Given the description of an element on the screen output the (x, y) to click on. 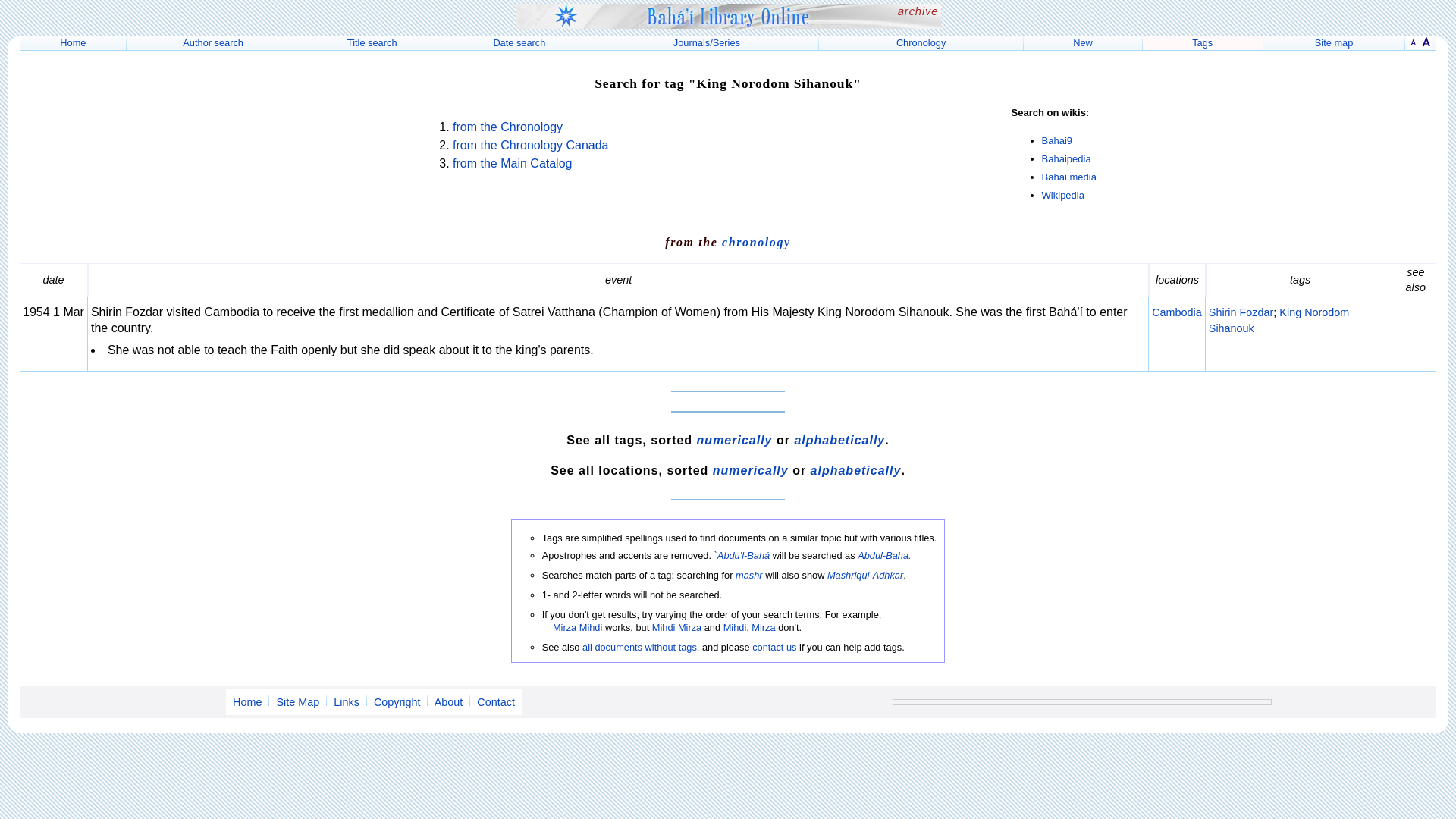
Mirza Mihdi (577, 627)
alphabetically (855, 470)
Mashriqul-Adhkar (864, 574)
Shirin Fozdar (1241, 312)
Abdul-Baha. (884, 555)
from the Main Catalog (512, 163)
mashr (748, 574)
numerically (751, 470)
Bahai9 (1056, 140)
chronology (756, 241)
from the Chronology Canada (530, 144)
Cambodia (1176, 312)
all documents without tags (639, 646)
Bahaipedia (1066, 158)
Chronology (920, 42)
